Given the description of an element on the screen output the (x, y) to click on. 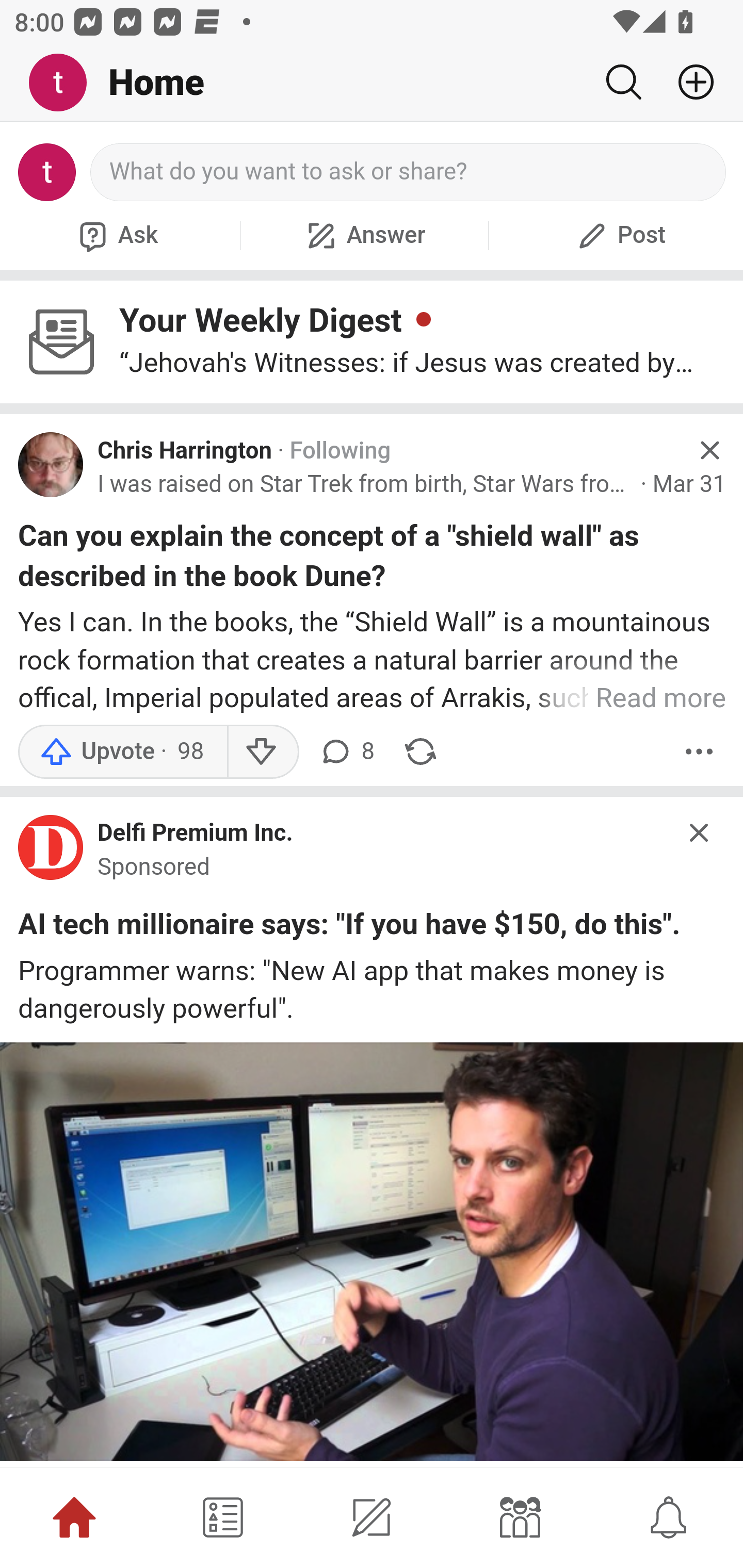
Me Home Search Add (371, 82)
Me (64, 83)
Search (623, 82)
Add (688, 82)
